Given the description of an element on the screen output the (x, y) to click on. 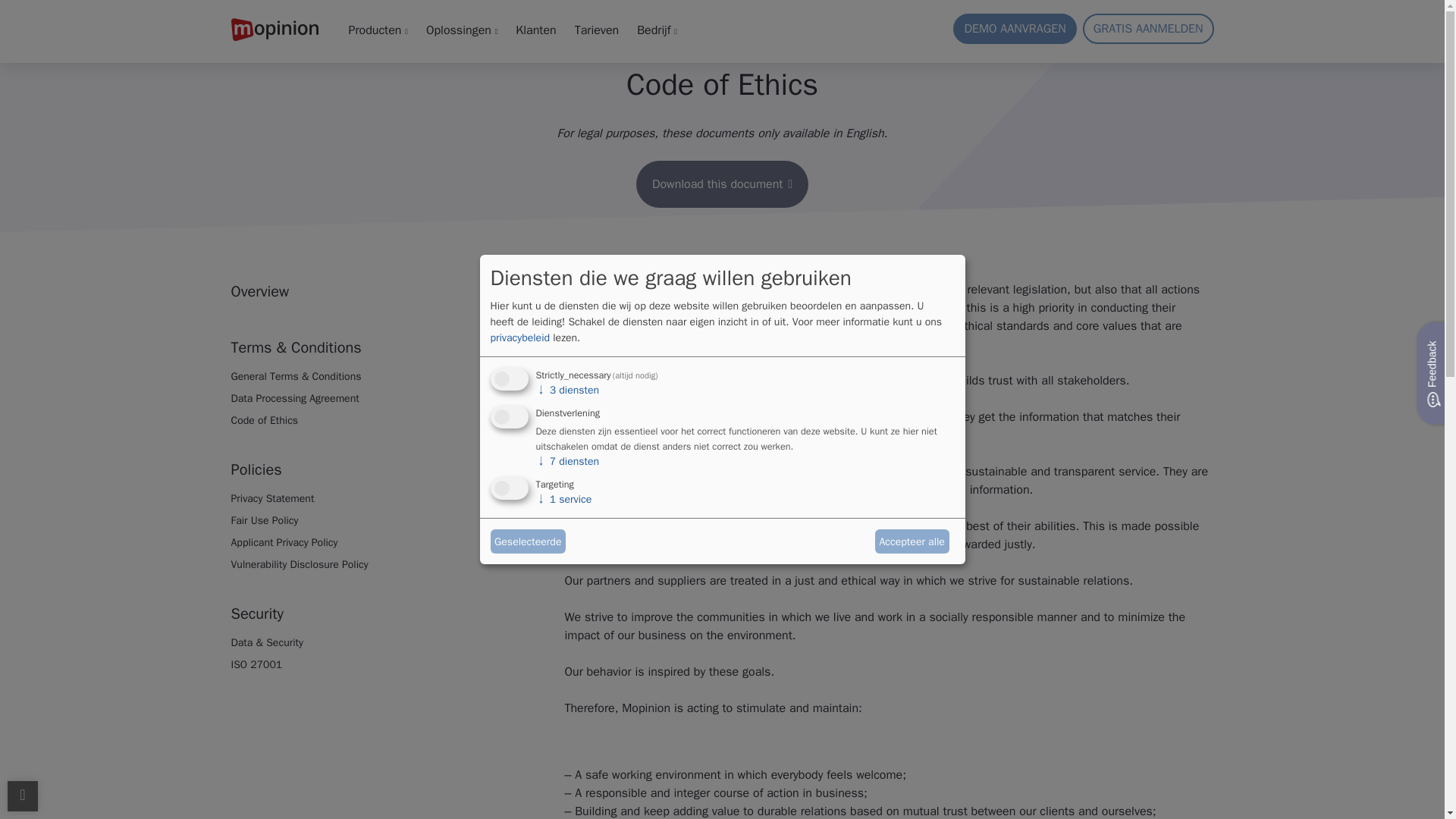
Tarieven (596, 30)
Bedrijf (656, 30)
Producten (377, 30)
Oplossingen (461, 30)
Klanten (535, 30)
